Given the description of an element on the screen output the (x, y) to click on. 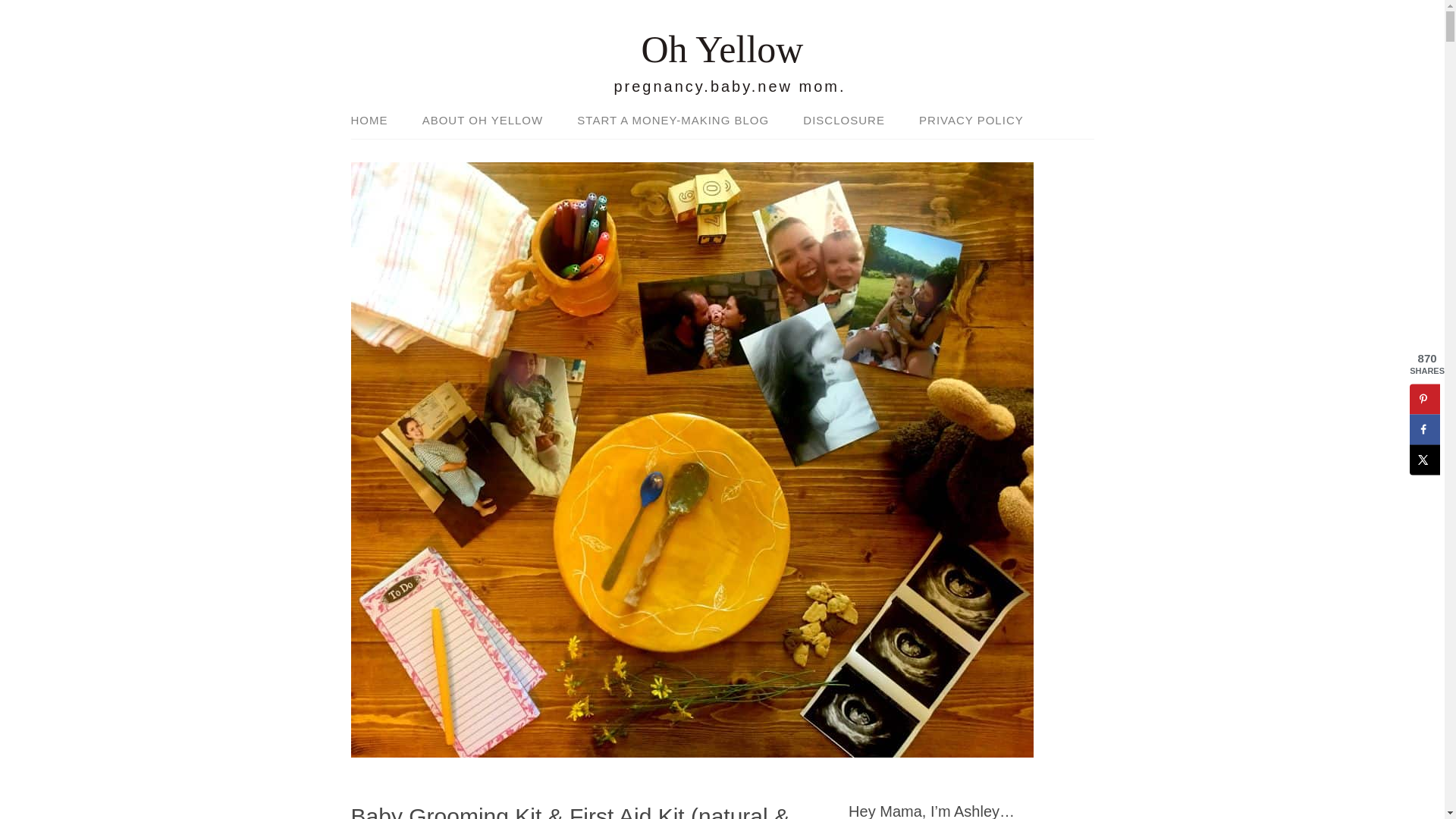
Oh Yellow (722, 48)
Oh Yellow (722, 48)
DISCLOSURE (843, 120)
START A MONEY-MAKING BLOG (673, 120)
HOME (376, 120)
ABOUT OH YELLOW (483, 120)
PRIVACY POLICY (963, 120)
